Given the description of an element on the screen output the (x, y) to click on. 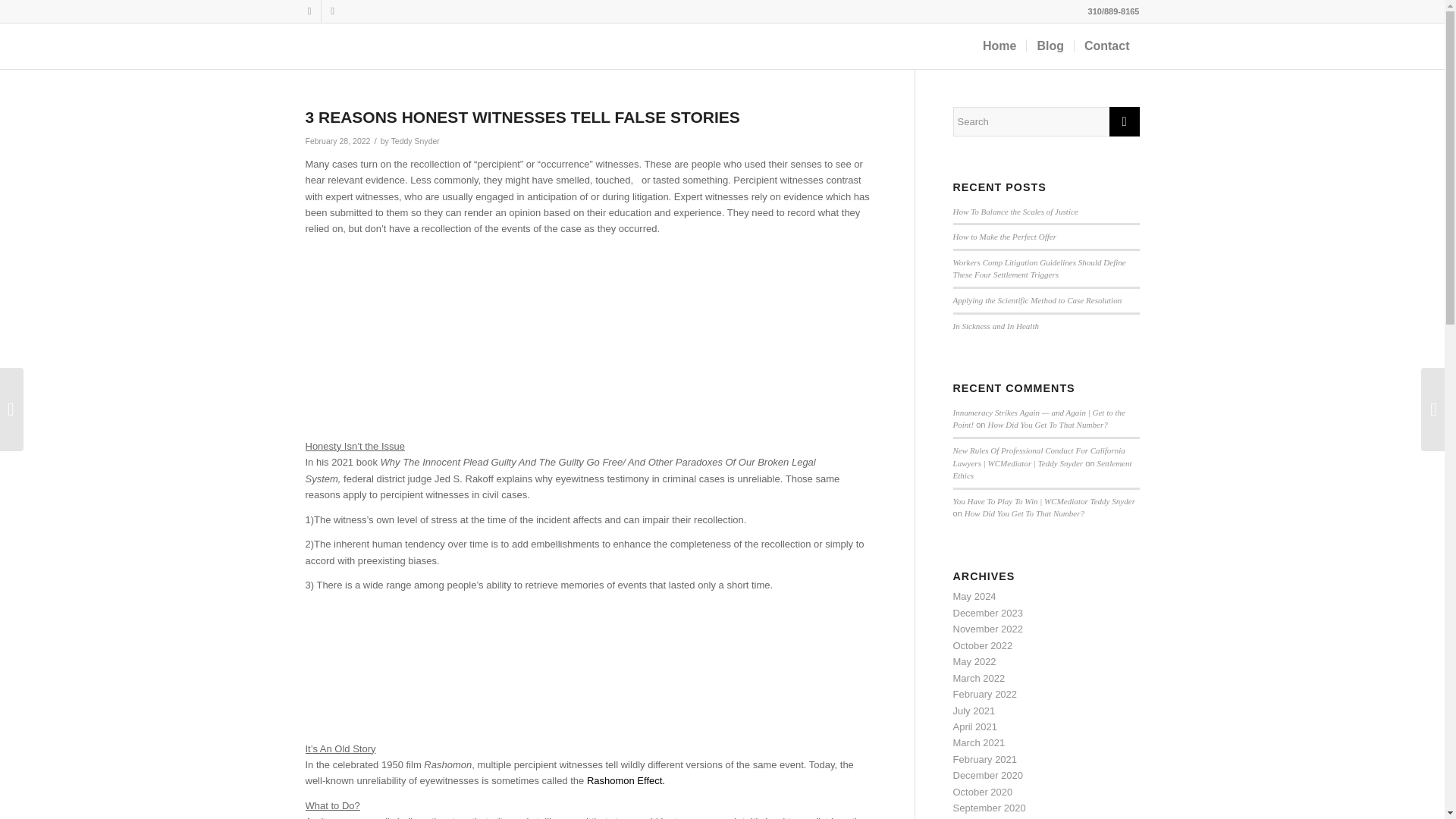
Applying the Scientific Method to Case Resolution (1036, 299)
Settlement Ethics (1041, 468)
How to Make the Perfect Offer (1004, 235)
Posts by Teddy Snyder (415, 140)
LinkedIn (309, 11)
Contact (1107, 45)
Home (999, 45)
How Did You Get To That Number? (1048, 424)
